Given the description of an element on the screen output the (x, y) to click on. 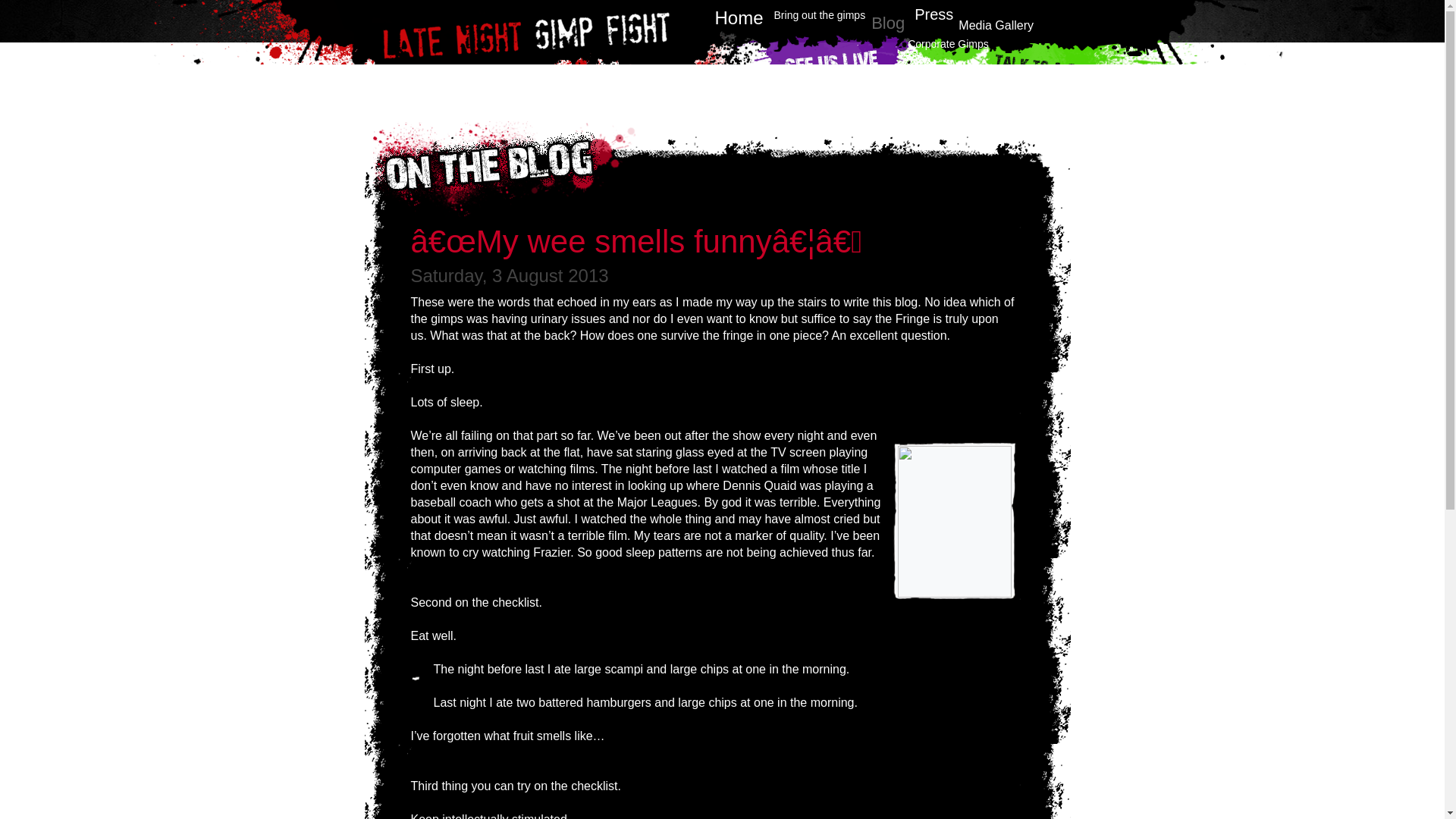
Blog (887, 22)
Bring out the gimps (820, 15)
Press (933, 13)
Media Gallery (995, 24)
Corporate Gimps (947, 43)
see us live (836, 69)
talk to a gimp (1028, 80)
Home (738, 17)
